Given the description of an element on the screen output the (x, y) to click on. 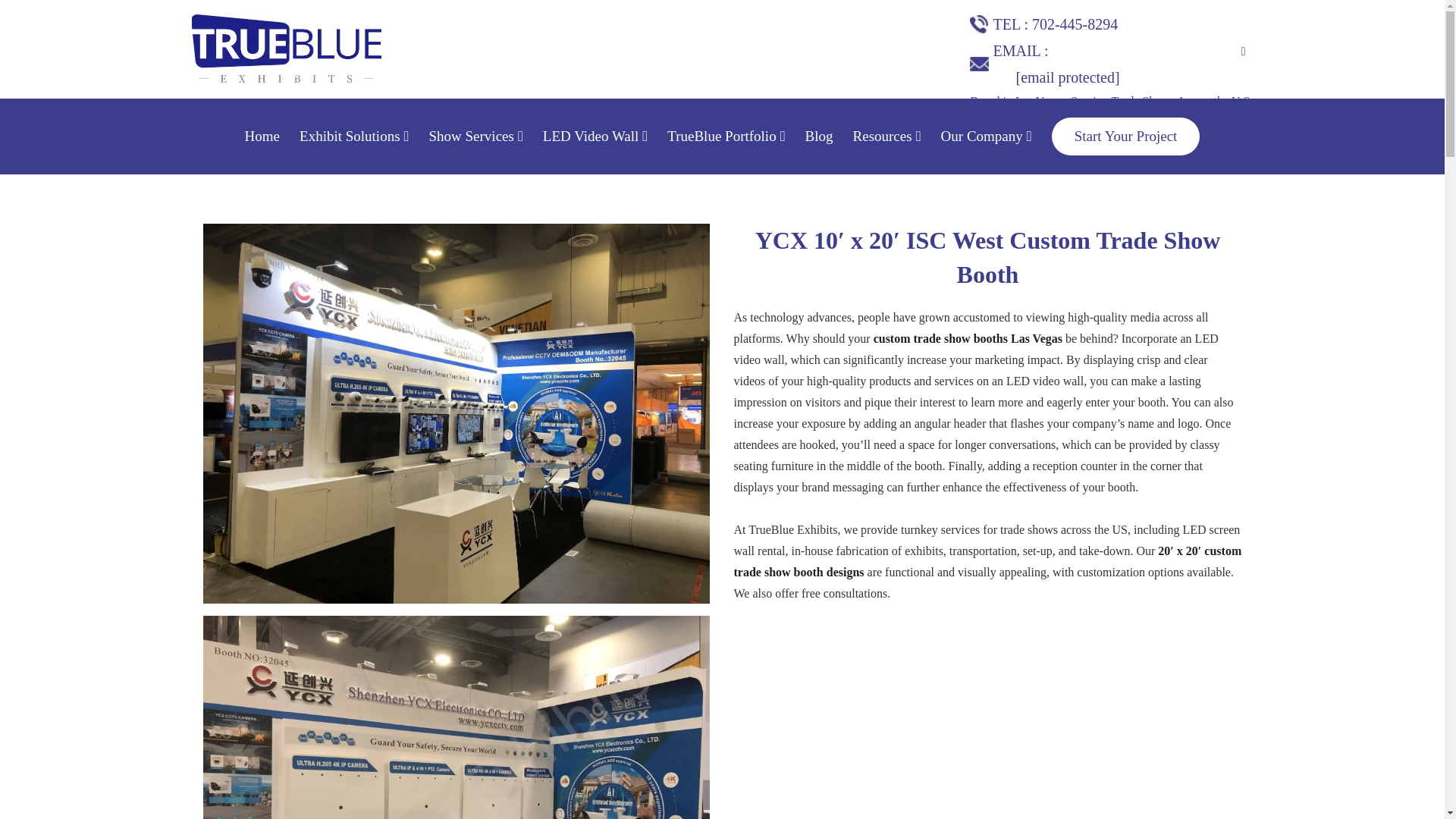
TrueBlue Portfolio (725, 136)
702-445-8294 (1075, 23)
Show Services (475, 136)
Home (261, 136)
Resources (887, 136)
LED Video Wall (595, 136)
Exhibit Solutions (354, 136)
